Given the description of an element on the screen output the (x, y) to click on. 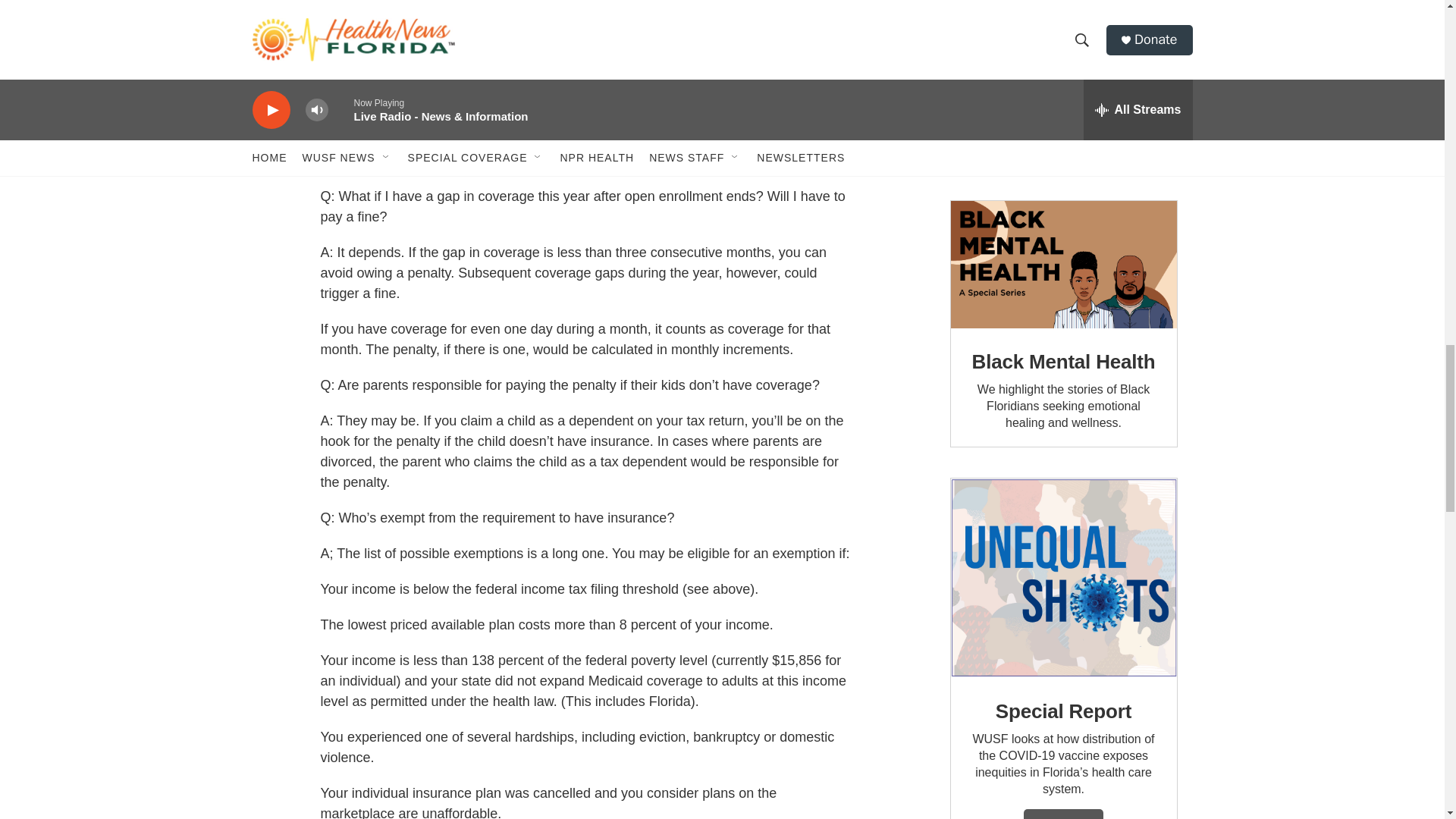
3rd party ad content (1062, 84)
